Given the description of an element on the screen output the (x, y) to click on. 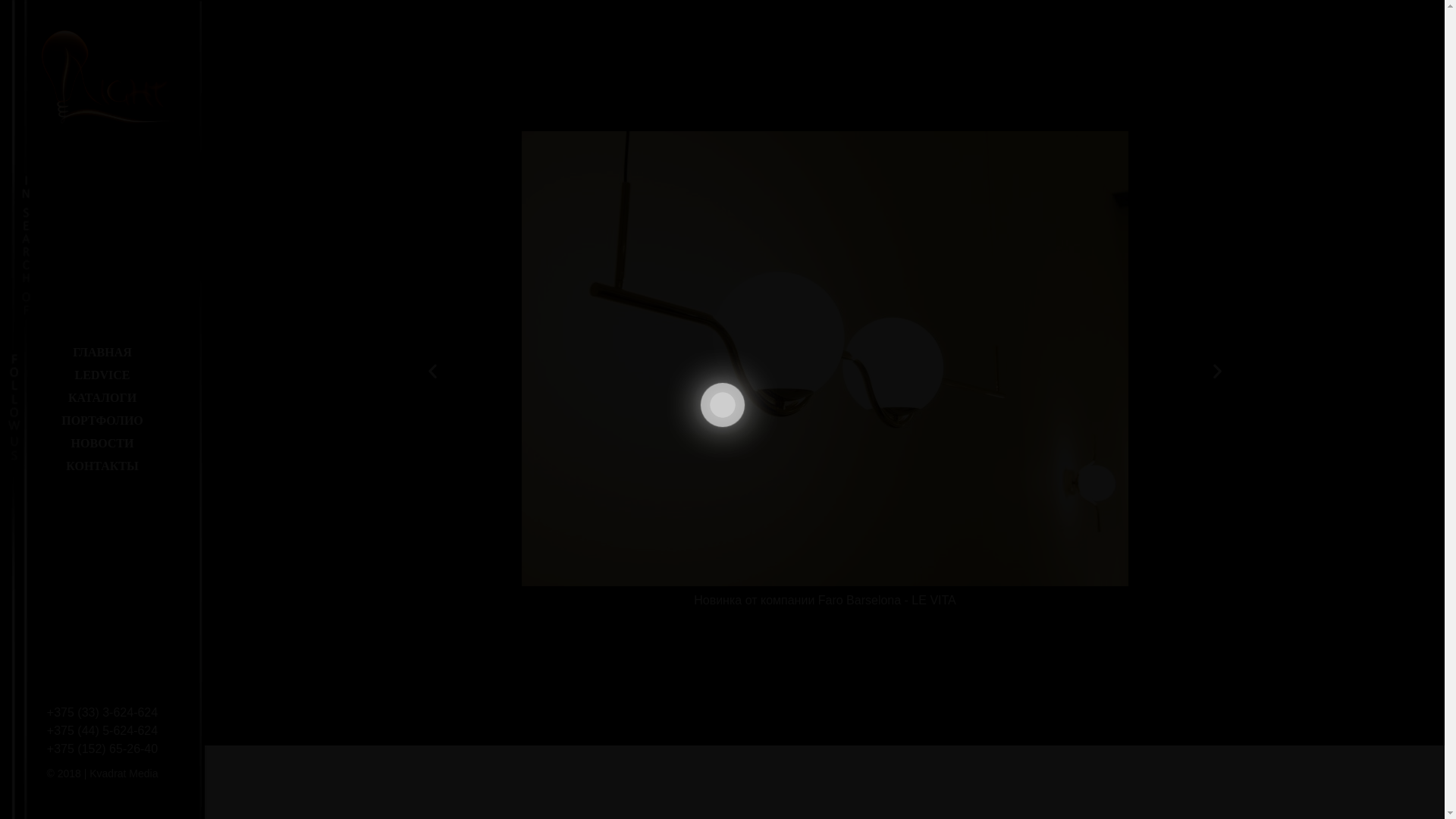
LEDVICE Element type: text (102, 375)
Replica Element type: text (448, 93)
Kvadrat Media Element type: text (123, 773)
